Given the description of an element on the screen output the (x, y) to click on. 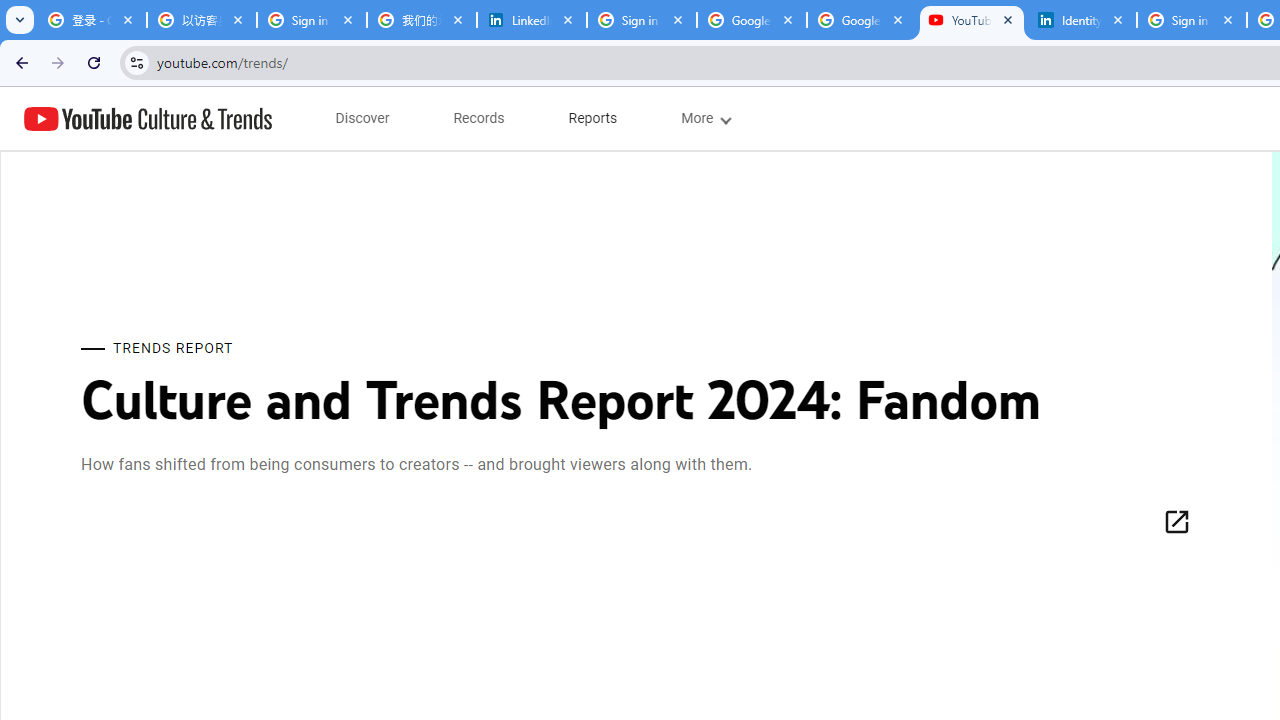
LinkedIn Privacy Policy (532, 20)
subnav-Reports menupopup (593, 118)
Sign in - Google Accounts (312, 20)
subnav-More menupopup (704, 118)
subnav-Discover menupopup (362, 118)
subnav-Records menupopup (479, 118)
